Given the description of an element on the screen output the (x, y) to click on. 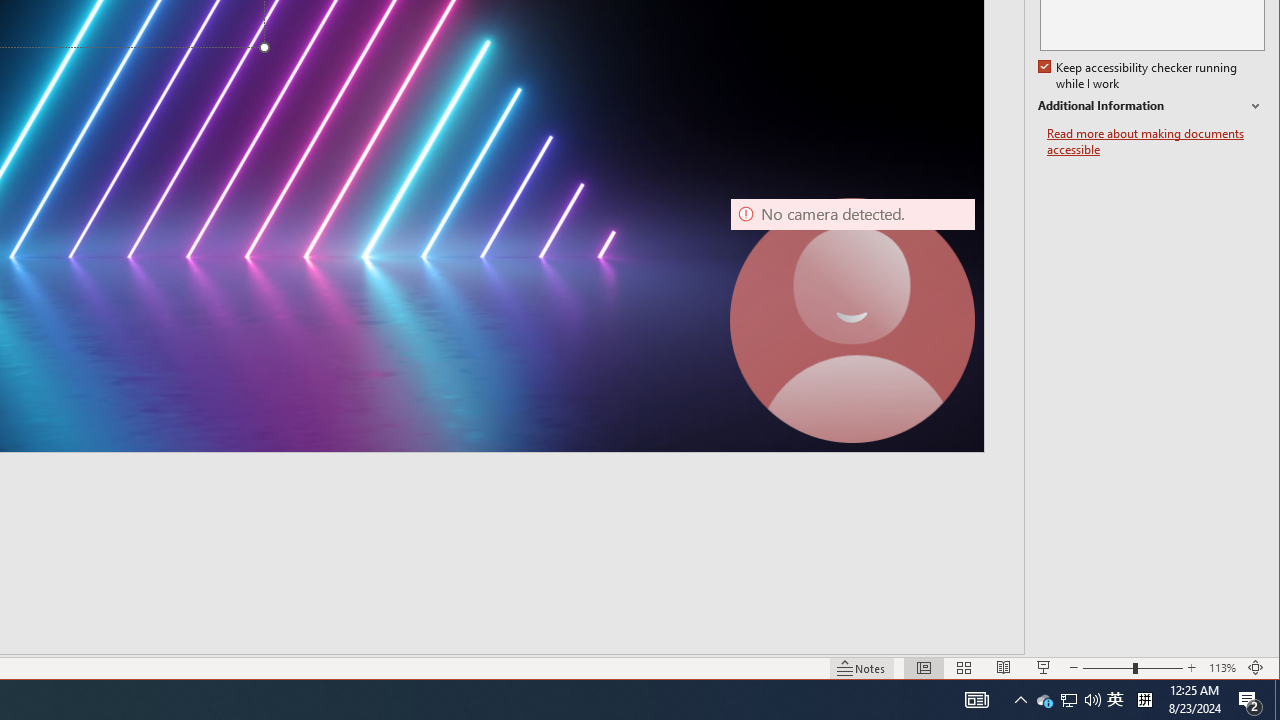
Camera 7, No camera detected. (852, 320)
